Given the description of an element on the screen output the (x, y) to click on. 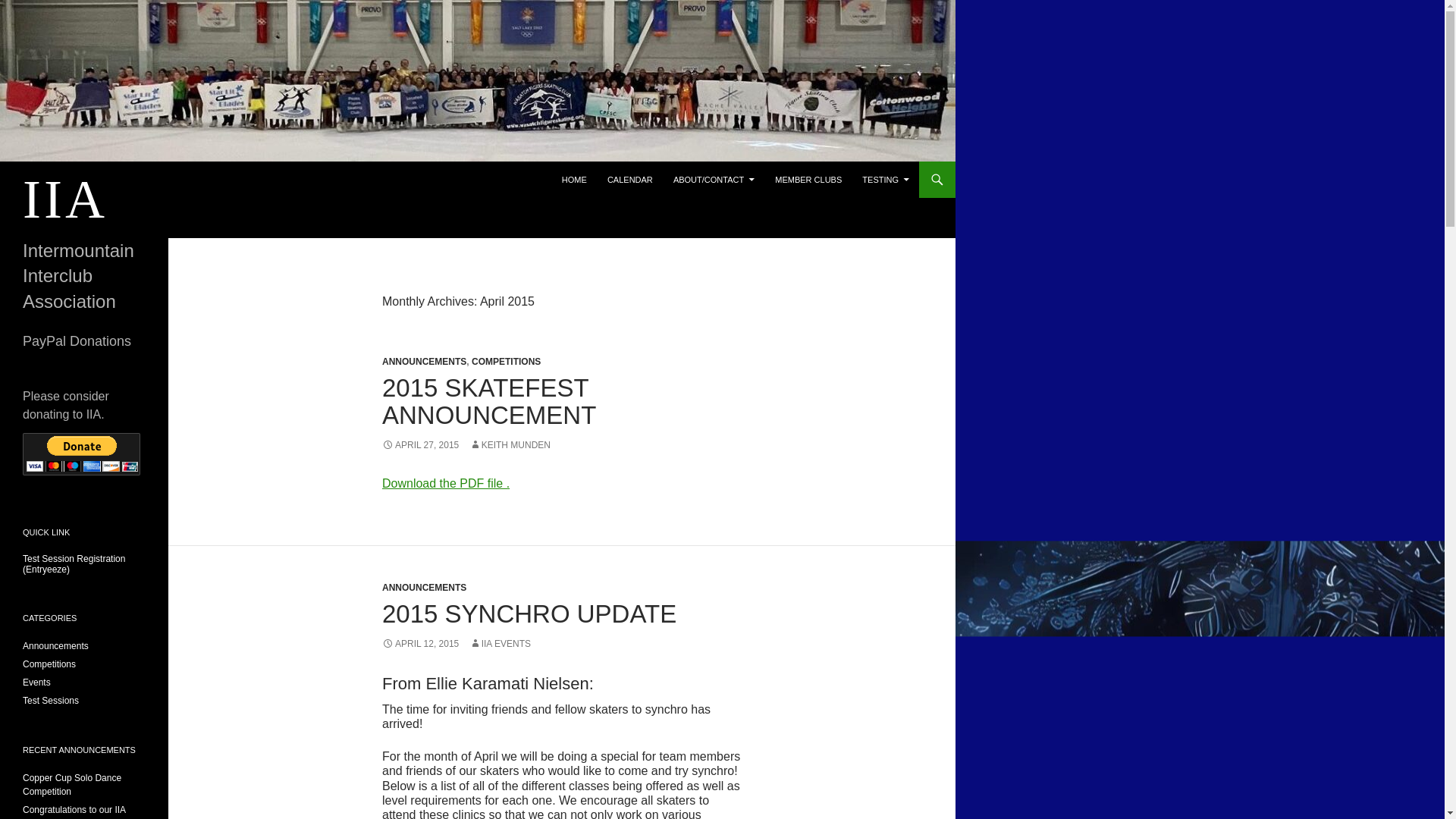
CALENDAR (630, 179)
IIA on Entryeeze (74, 563)
MEMBER CLUBS (807, 179)
IIA EVENTS (499, 643)
COMPETITIONS (505, 361)
ANNOUNCEMENTS (423, 361)
ANNOUNCEMENTS (423, 587)
KEITH MUNDEN (509, 444)
HOME (574, 179)
